Given the description of an element on the screen output the (x, y) to click on. 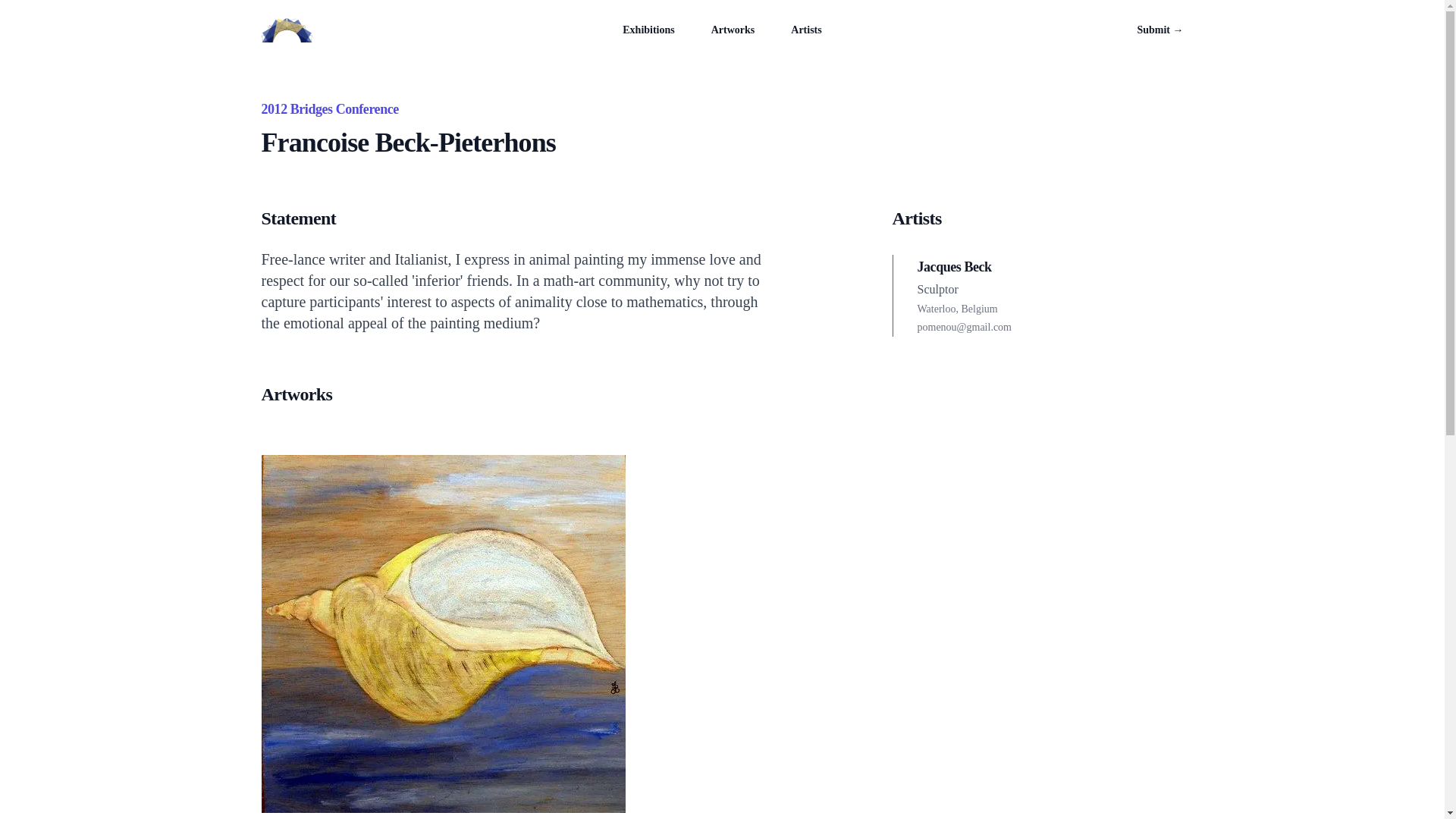
Artworks (733, 30)
Exhibitions (648, 30)
Mathematical Art Galleries (285, 29)
Artists (805, 30)
2012 Bridges Conference (328, 109)
